Given the description of an element on the screen output the (x, y) to click on. 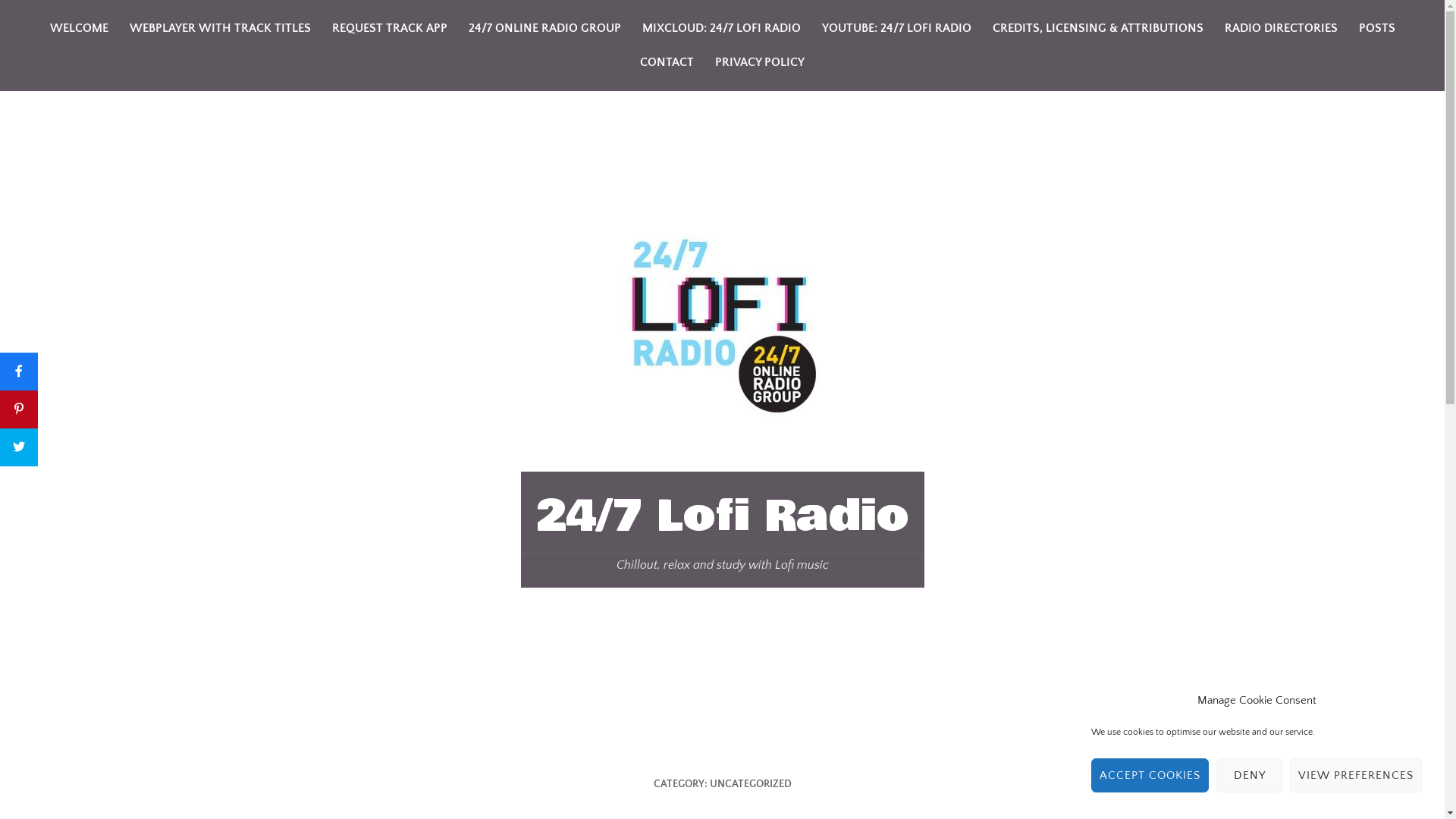
MIXCLOUD: 24/7 LOFI RADIO Element type: text (720, 28)
CONTACT Element type: text (666, 62)
WELCOME Element type: text (78, 28)
RADIO DIRECTORIES Element type: text (1280, 28)
VIEW PREFERENCES Element type: text (1355, 775)
YOUTUBE: 24/7 LOFI RADIO Element type: text (896, 28)
CREDITS, LICENSING & ATTRIBUTIONS Element type: text (1096, 28)
DENY Element type: text (1249, 775)
24/7 Lofi Radio Element type: text (721, 516)
POSTS Element type: text (1376, 28)
WEBPLAYER WITH TRACK TITLES Element type: text (219, 28)
REQUEST TRACK APP Element type: text (389, 28)
PRIVACY POLICY Element type: text (759, 62)
ACCEPT COOKIES Element type: text (1149, 775)
24/7 ONLINE RADIO GROUP Element type: text (544, 28)
